Given the description of an element on the screen output the (x, y) to click on. 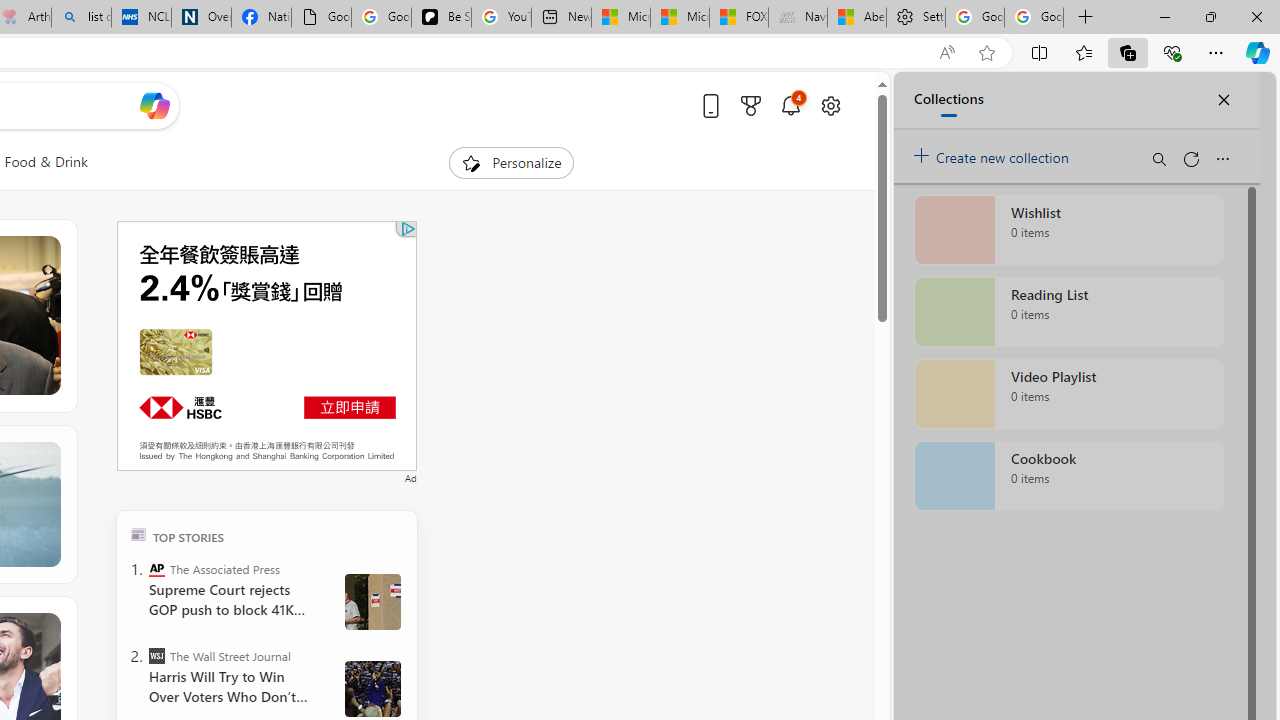
AutomationID: canvas (266, 345)
FOX News - MSN (738, 17)
The Associated Press (156, 568)
Class: qc-adchoices-link top-right  (406, 228)
TOP (138, 534)
